Given the description of an element on the screen output the (x, y) to click on. 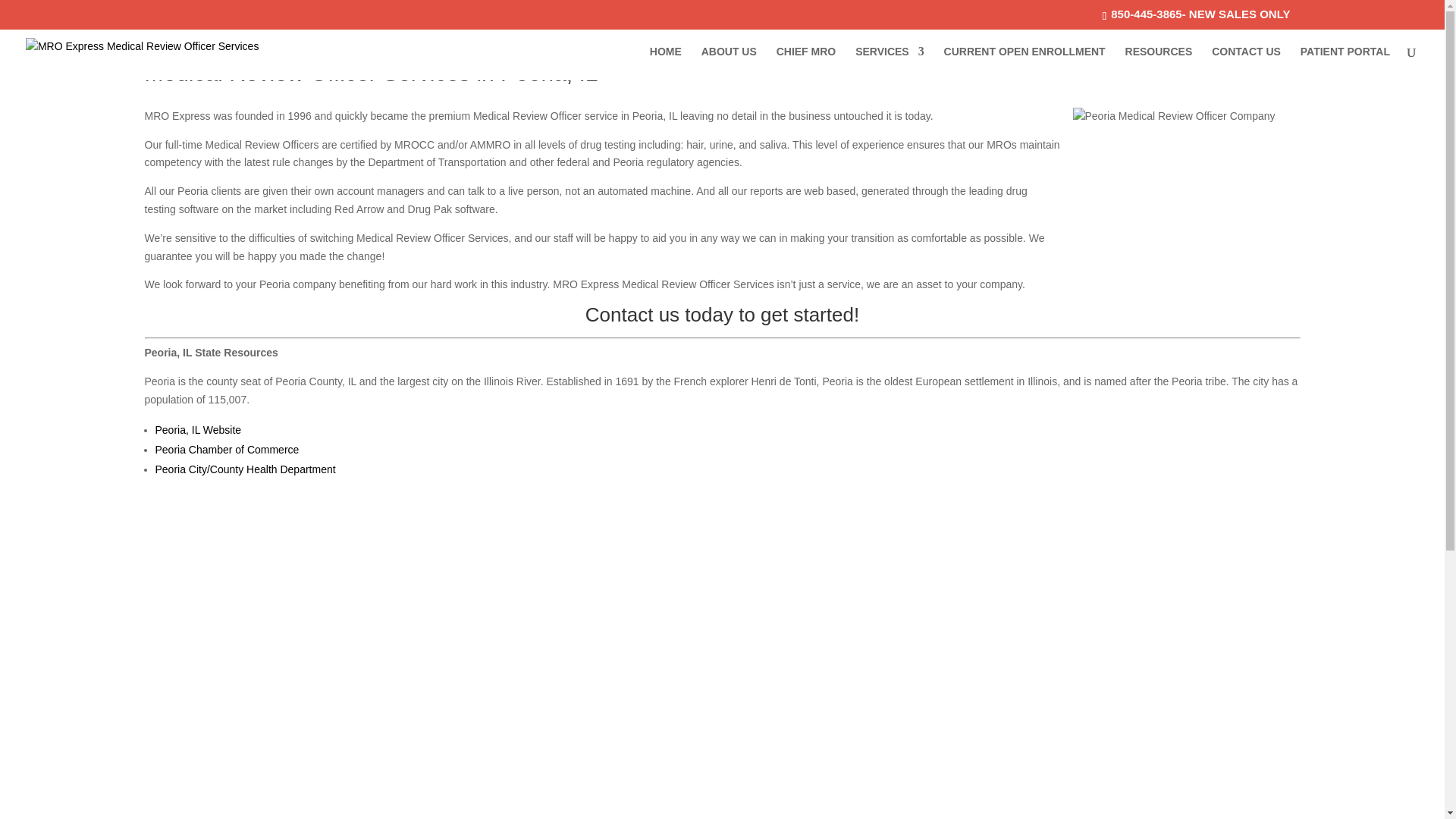
CONTACT US (1246, 62)
HOME (665, 62)
Peoria Chamber of Commerce (226, 449)
RESOURCES (1158, 62)
CHIEF MRO (805, 62)
ABOUT US (729, 62)
850-445-3865 (1145, 13)
Peoria, IL Website (197, 429)
SERVICES (890, 62)
Contact us today to get started! (722, 314)
PATIENT PORTAL (1345, 62)
CURRENT OPEN ENROLLMENT (1024, 62)
